Given the description of an element on the screen output the (x, y) to click on. 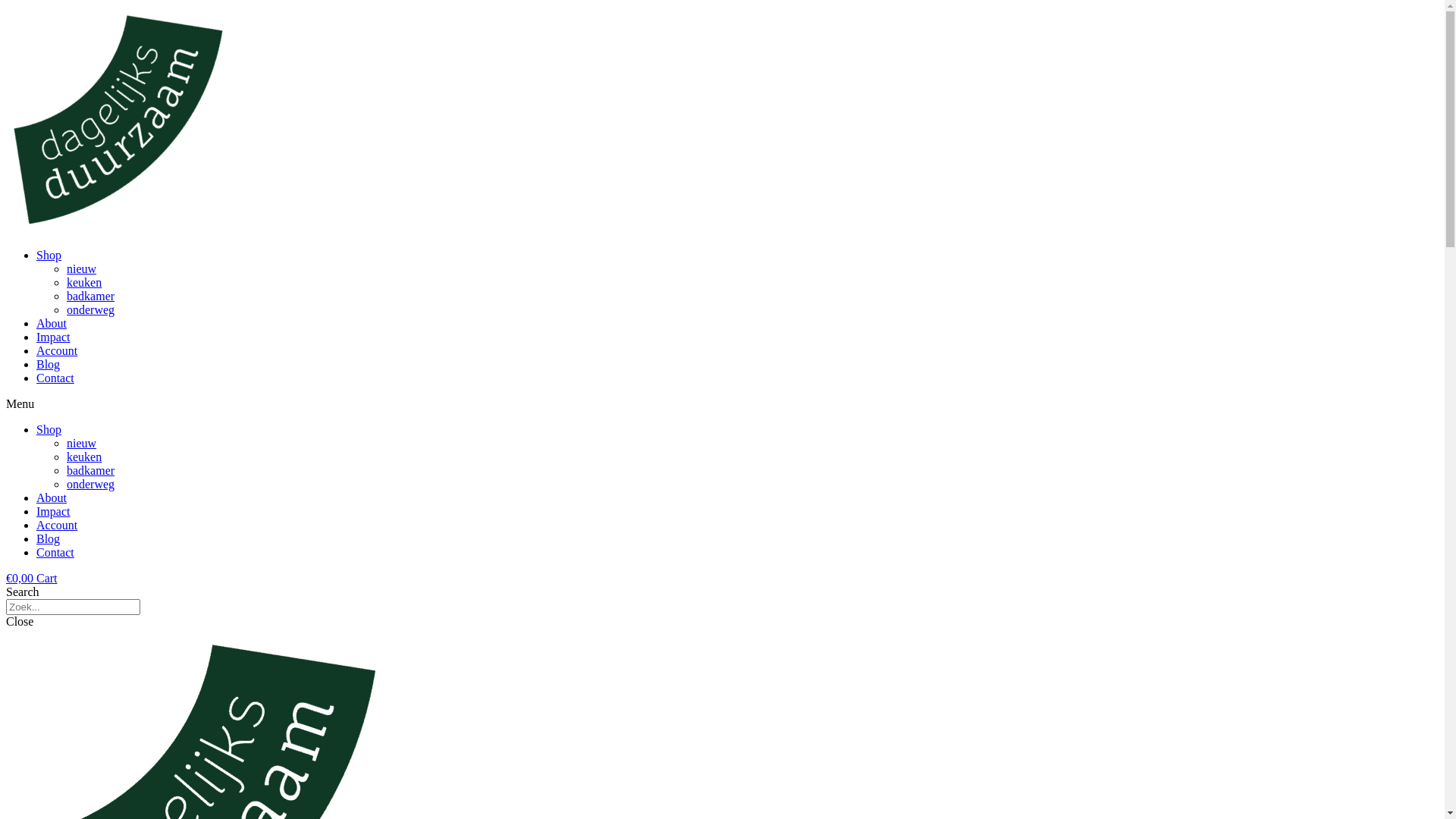
Shop Element type: text (48, 254)
nieuw Element type: text (81, 268)
Impact Element type: text (52, 336)
Blog Element type: text (47, 538)
badkamer Element type: text (90, 295)
Blog Element type: text (47, 363)
badkamer Element type: text (90, 470)
Ga naar de inhoud Element type: text (5, 5)
Search Element type: hover (73, 607)
keuken Element type: text (83, 282)
Account Element type: text (56, 524)
nieuw Element type: text (81, 442)
onderweg Element type: text (90, 483)
Impact Element type: text (52, 511)
keuken Element type: text (83, 456)
Account Element type: text (56, 350)
About Element type: text (51, 322)
Contact Element type: text (55, 377)
Contact Element type: text (55, 552)
About Element type: text (51, 497)
onderweg Element type: text (90, 309)
Shop Element type: text (48, 429)
